Given the description of an element on the screen output the (x, y) to click on. 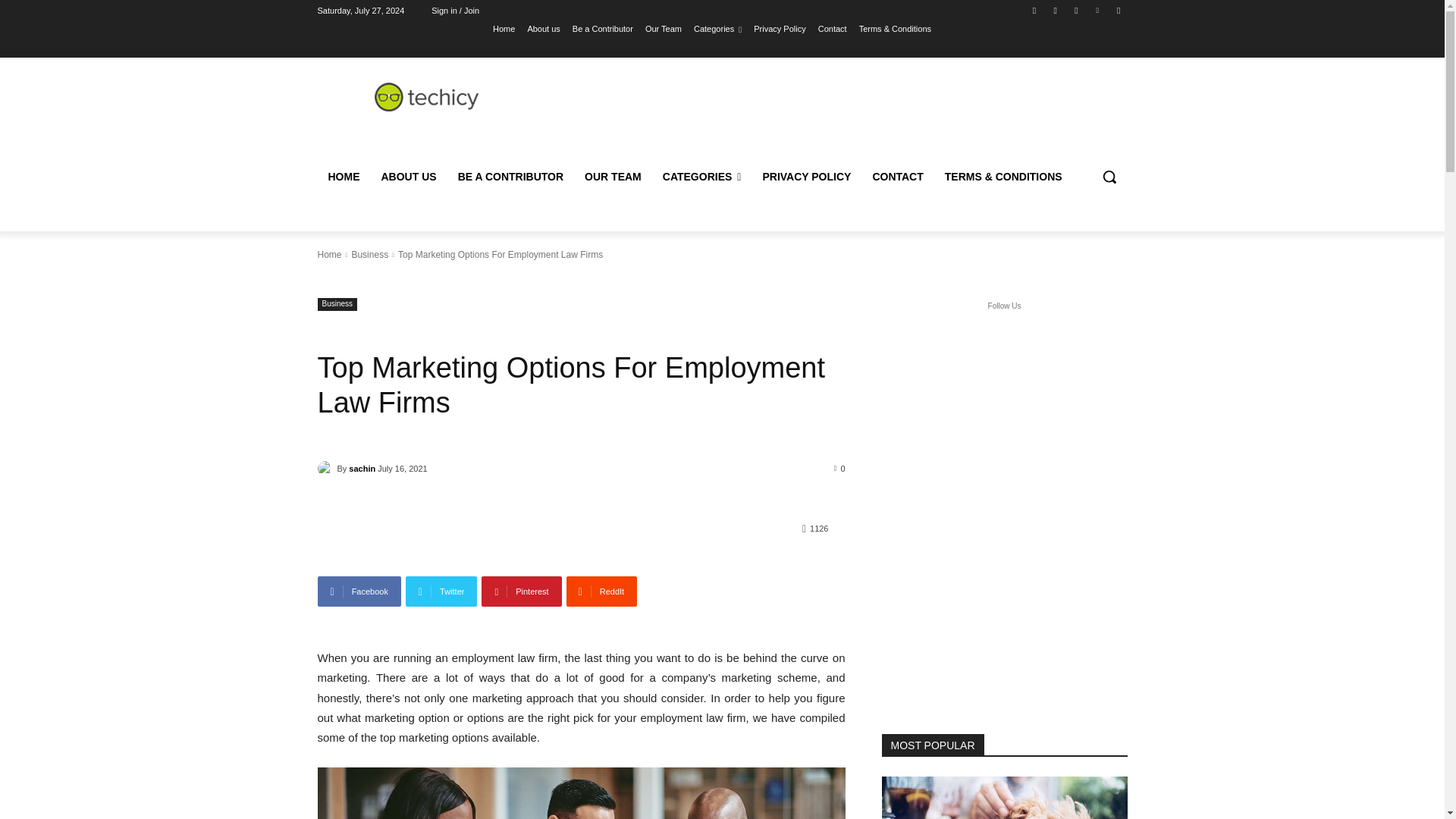
Twitter (1075, 9)
Categories (717, 28)
Our Team (663, 28)
Contact (832, 28)
Privacy Policy (779, 28)
Instagram (1055, 9)
Youtube (1117, 9)
Be a Contributor (602, 28)
Home (504, 28)
About us (543, 28)
Facebook (358, 591)
Facebook (1034, 9)
sachin (326, 468)
Twitter (441, 591)
Vimeo (1097, 9)
